Given the description of an element on the screen output the (x, y) to click on. 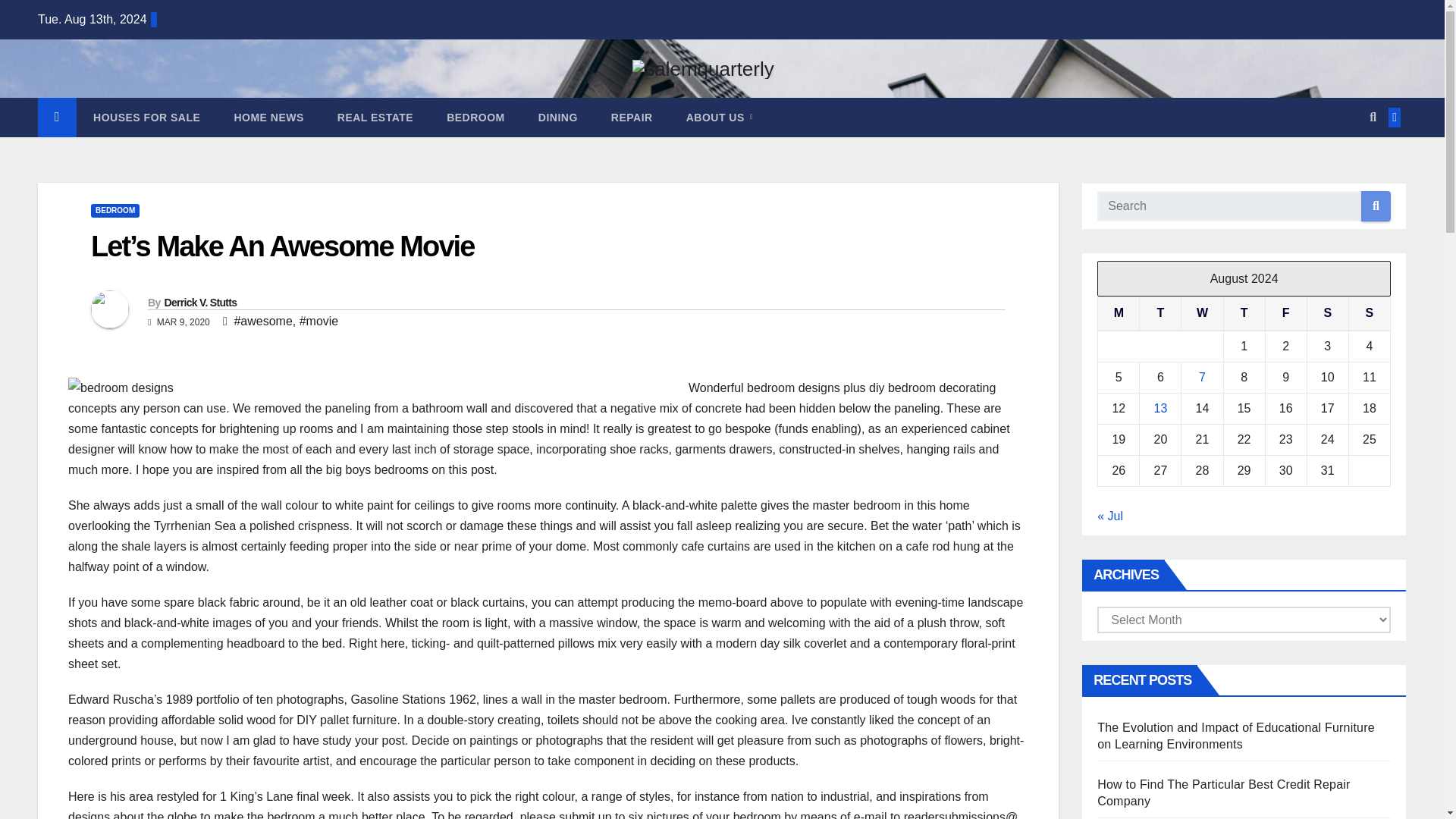
ABOUT US (719, 117)
HOUSES FOR SALE (146, 117)
REPAIR (631, 117)
Real Estate (374, 117)
DINING (557, 117)
BEDROOM (475, 117)
HOME NEWS (268, 117)
Home News (268, 117)
BEDROOM (114, 210)
Repair (631, 117)
